Given the description of an element on the screen output the (x, y) to click on. 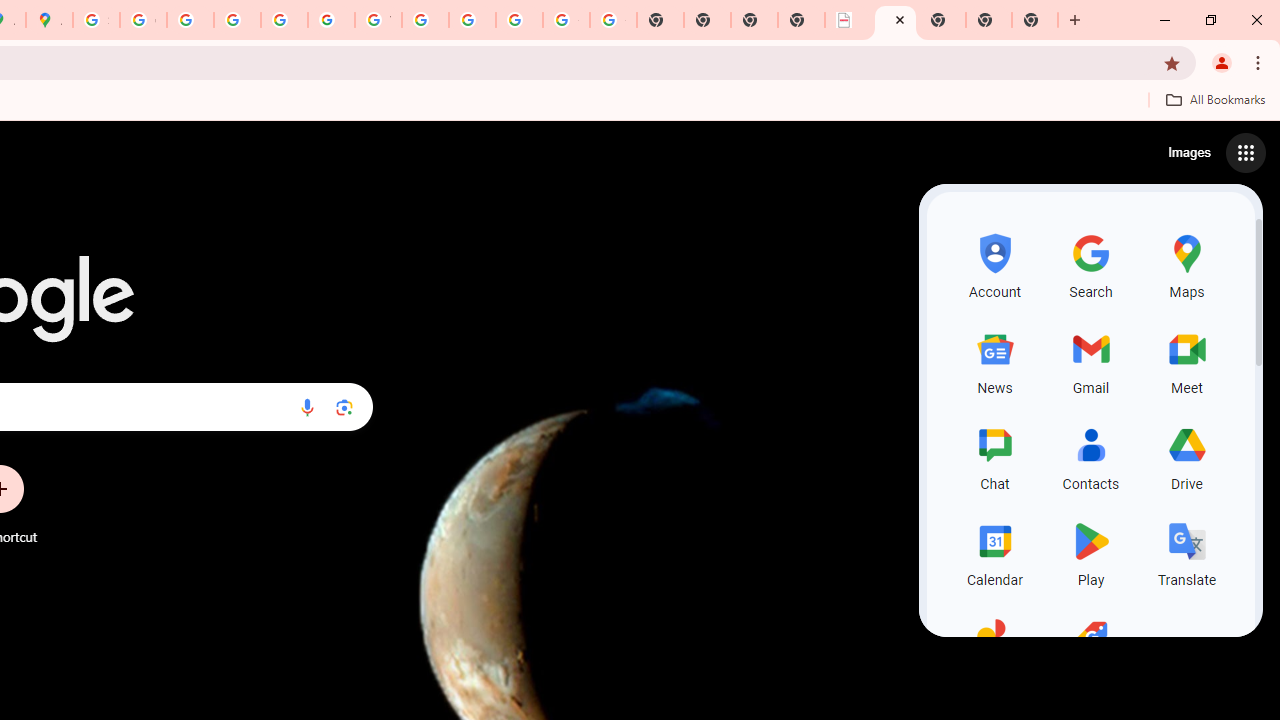
Account, row 1 of 5 and column 1 of 3 in the first section (994, 263)
Play, row 4 of 5 and column 2 of 3 in the first section (1090, 551)
Drive, row 3 of 5 and column 3 of 3 in the first section (1186, 455)
News, row 2 of 5 and column 1 of 3 in the first section (994, 359)
New Tab (1035, 20)
New Tab (989, 20)
Contacts, row 3 of 5 and column 2 of 3 in the first section (1090, 455)
Shopping, row 5 of 5 and column 2 of 3 in the first section (1090, 647)
